Given the description of an element on the screen output the (x, y) to click on. 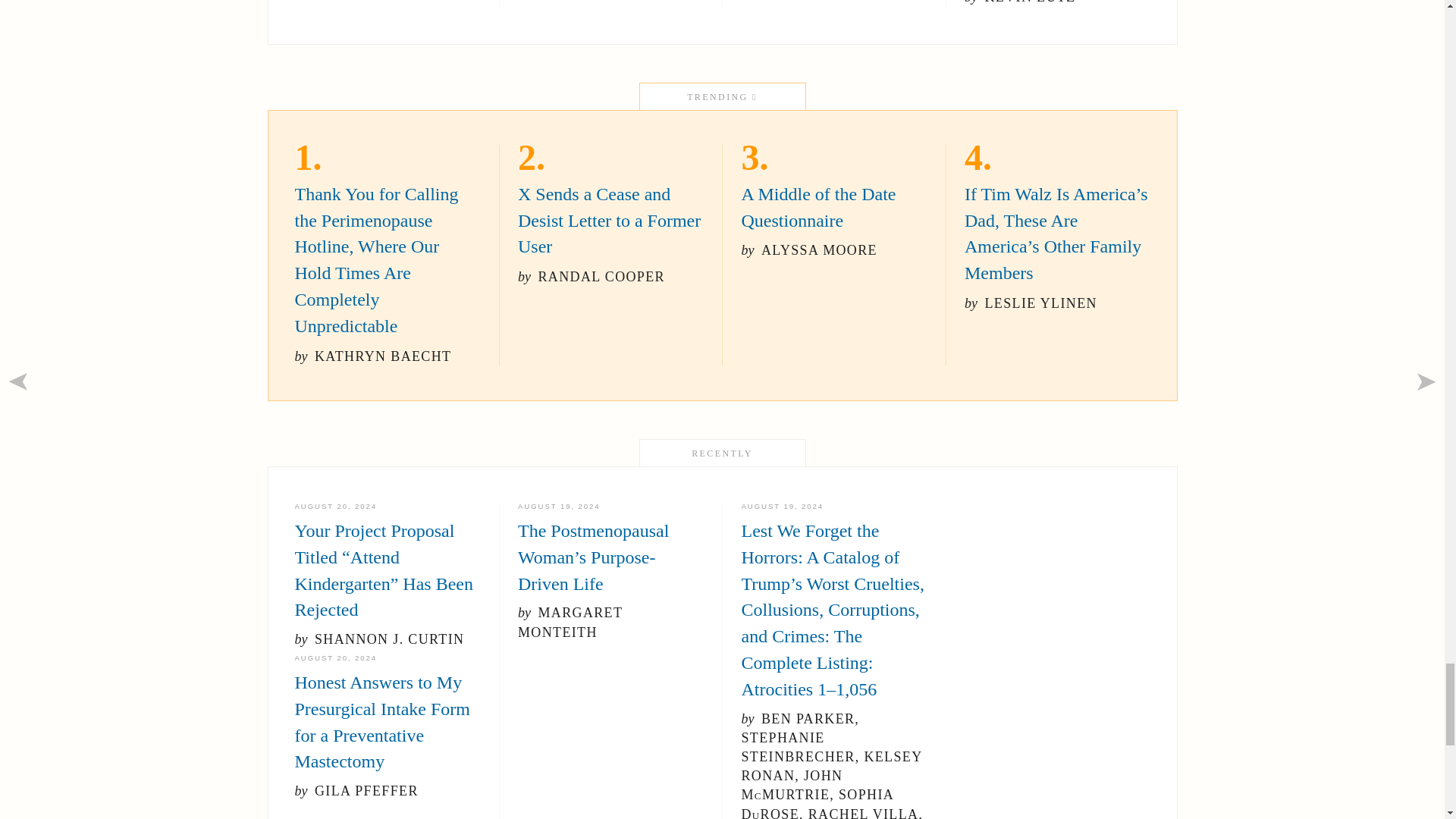
A Middle of the Date Questionnaire (834, 220)
X Sends a Cease and Desist Letter to a Former User (610, 233)
